Given the description of an element on the screen output the (x, y) to click on. 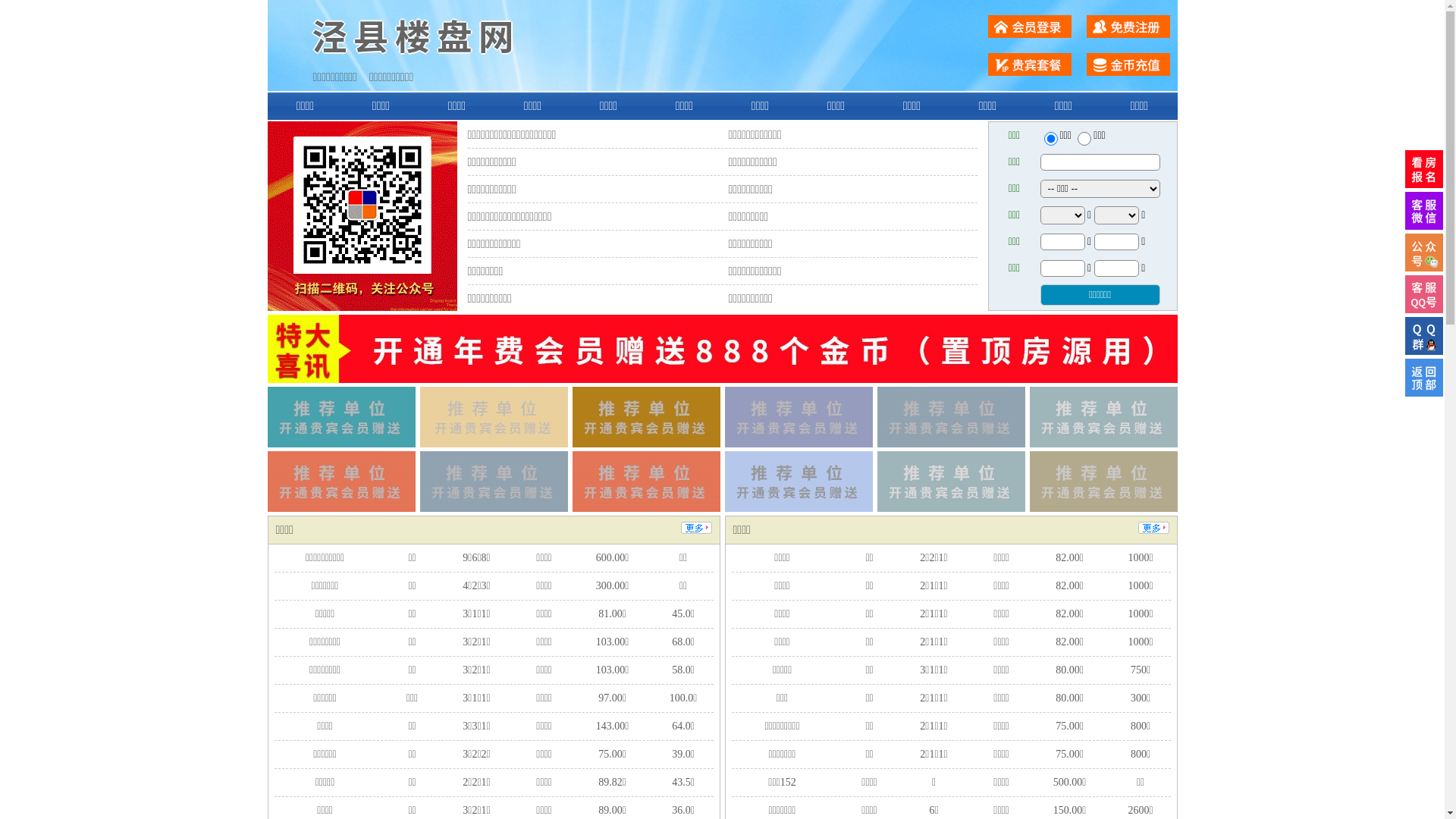
chuzu Element type: text (1084, 138)
ershou Element type: text (1050, 138)
